Given the description of an element on the screen output the (x, y) to click on. 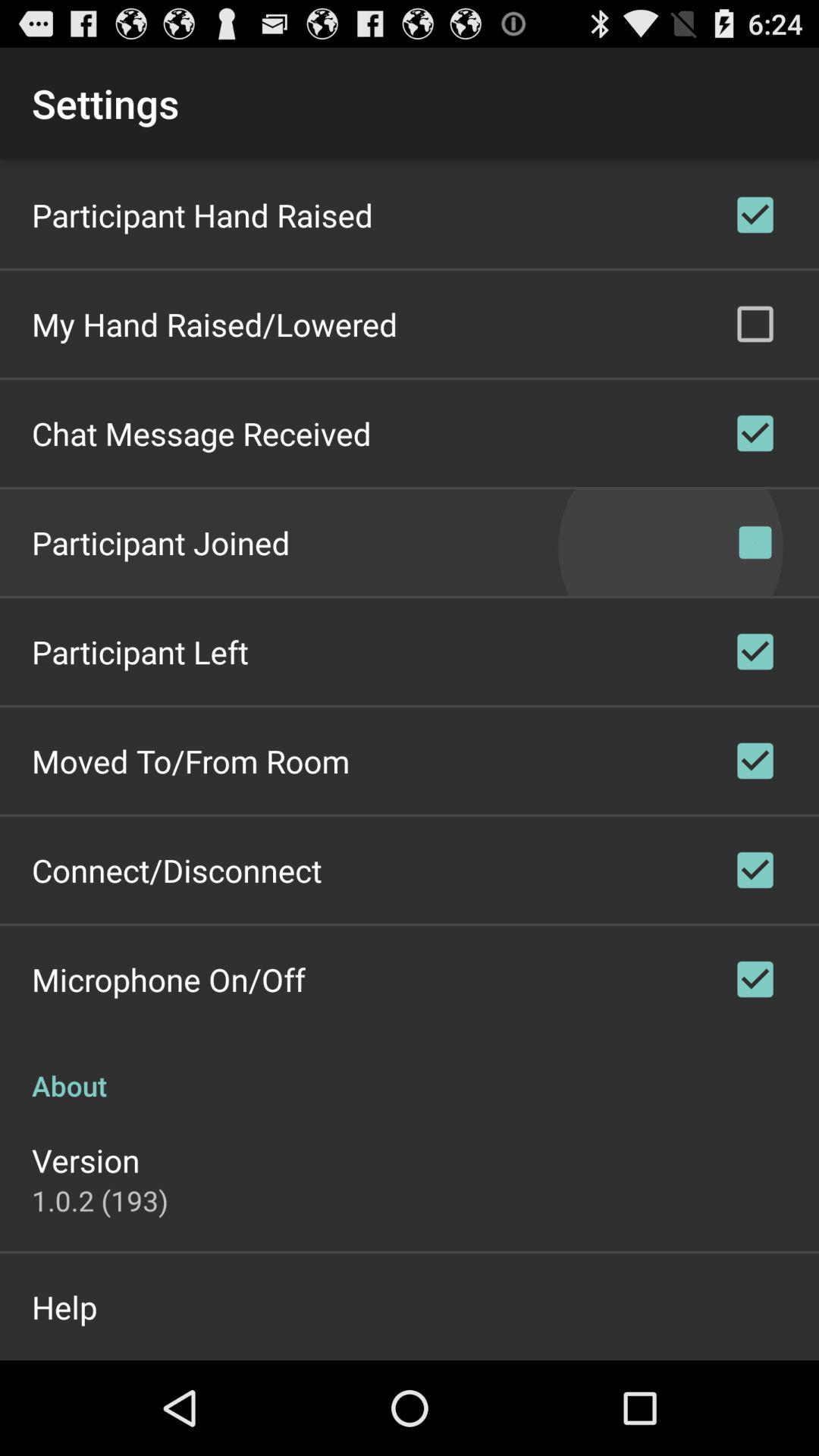
jump until participant joined app (160, 542)
